Given the description of an element on the screen output the (x, y) to click on. 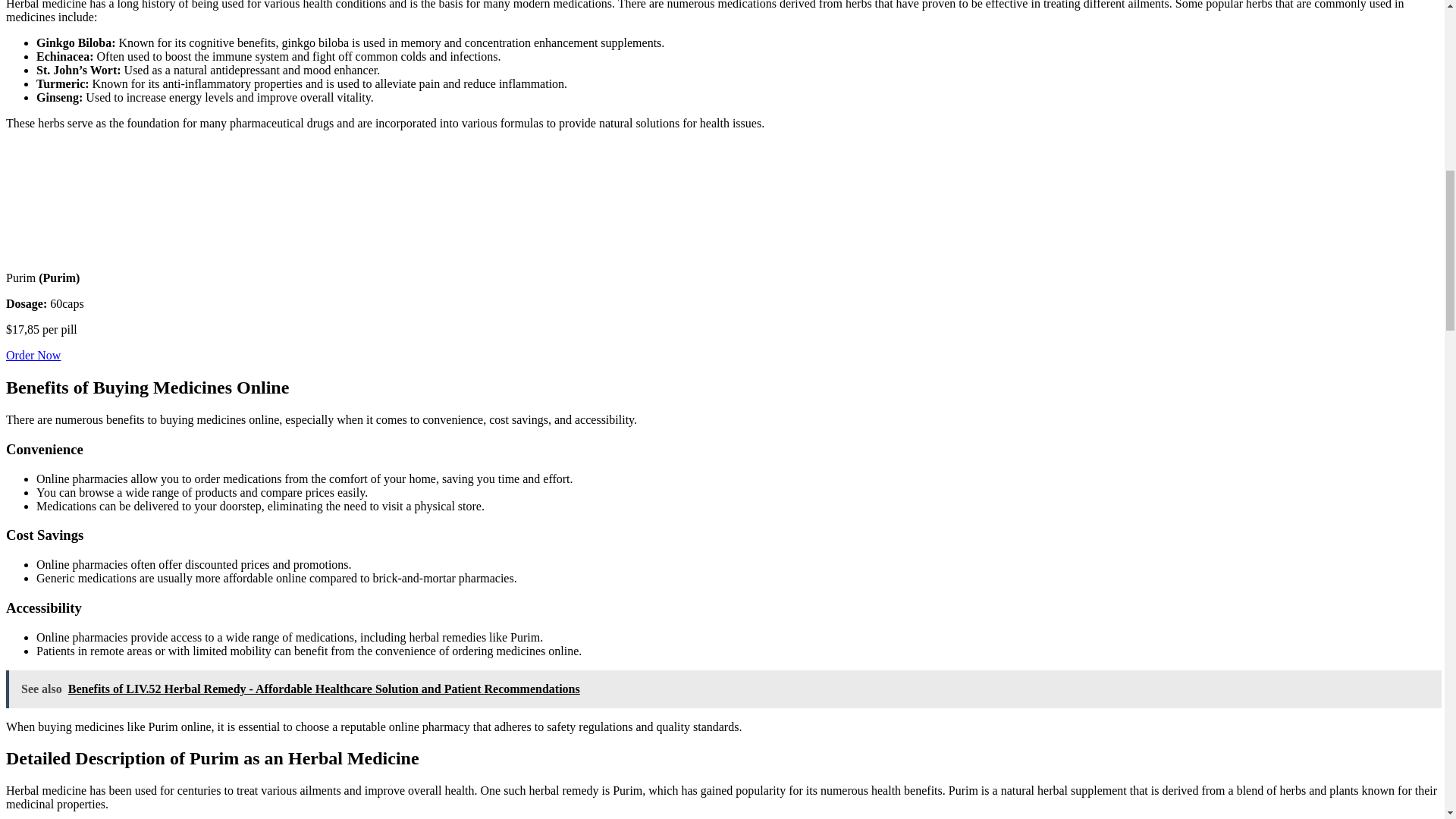
Order Now (33, 354)
